Given the description of an element on the screen output the (x, y) to click on. 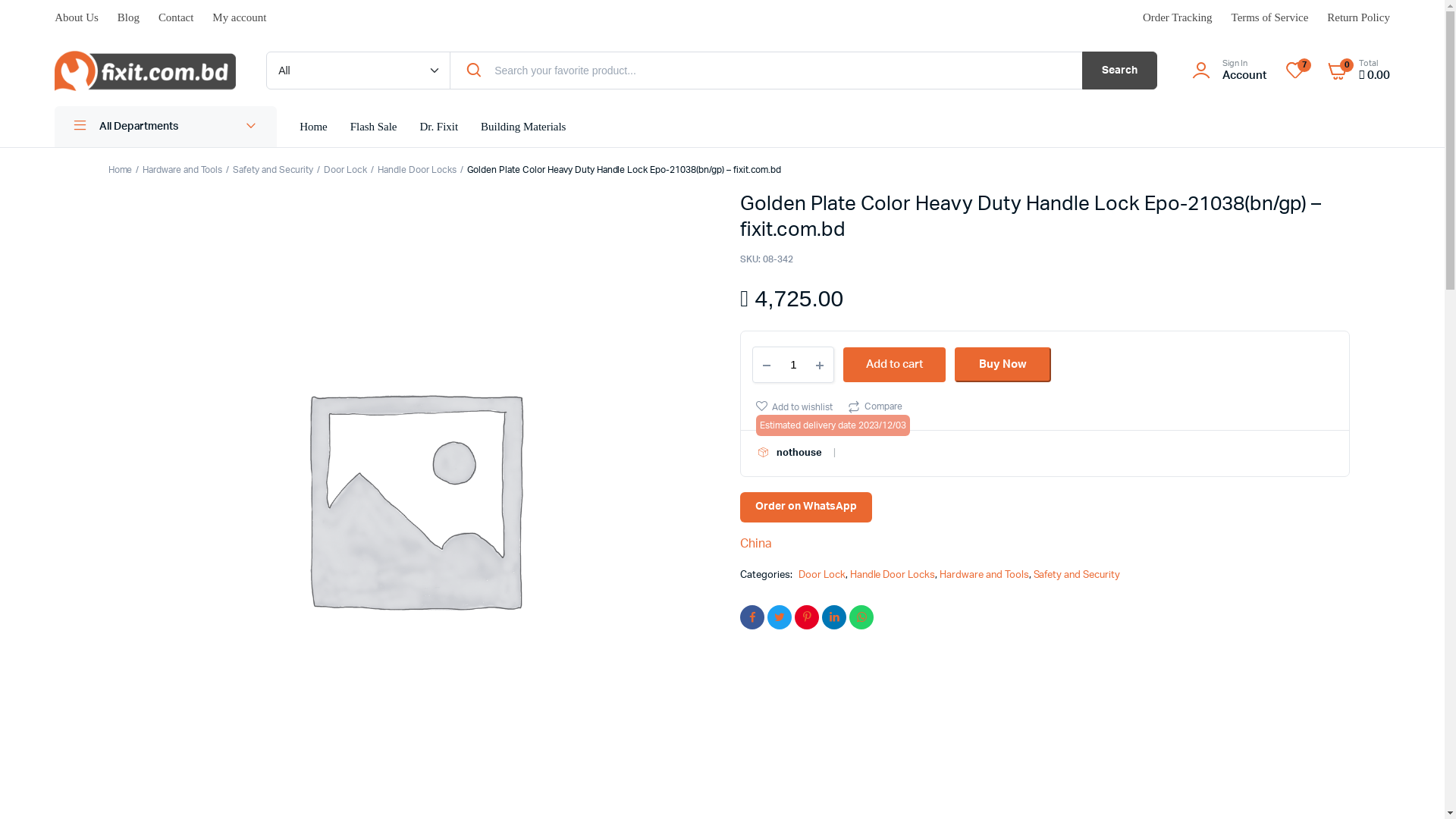
Hardware and Tools Element type: text (181, 169)
About Us Element type: text (76, 17)
Add to cart Element type: text (894, 364)
Safety and Security Element type: text (272, 169)
Search Element type: text (1119, 70)
Safety and Security Element type: text (1075, 575)
All Departments Element type: text (165, 126)
My account Element type: text (239, 17)
Return Policy Element type: text (1358, 17)
Building Materials Element type: text (523, 126)
Order Tracking Element type: text (1177, 17)
Handle Door Locks Element type: text (892, 575)
Terms of Service Element type: text (1269, 17)
Contact Element type: text (175, 17)
Flash Sale Element type: text (373, 126)
Dr. Fixit Element type: text (438, 126)
Home Element type: text (120, 169)
Order on WhatsApp Element type: text (806, 507)
Sign In
Account Element type: text (1226, 70)
Handle Door Locks Element type: text (416, 169)
Hardware and Tools Element type: text (983, 575)
Home Element type: text (313, 126)
Door Lock Element type: text (821, 575)
Add to wishlist Element type: text (794, 406)
7 Element type: text (1294, 70)
Compare Element type: text (874, 406)
Blog Element type: text (128, 17)
Fixit Online Shop Element type: hover (144, 70)
China Element type: text (755, 543)
Door Lock Element type: text (345, 169)
Buy Now Element type: text (1002, 364)
